Given the description of an element on the screen output the (x, y) to click on. 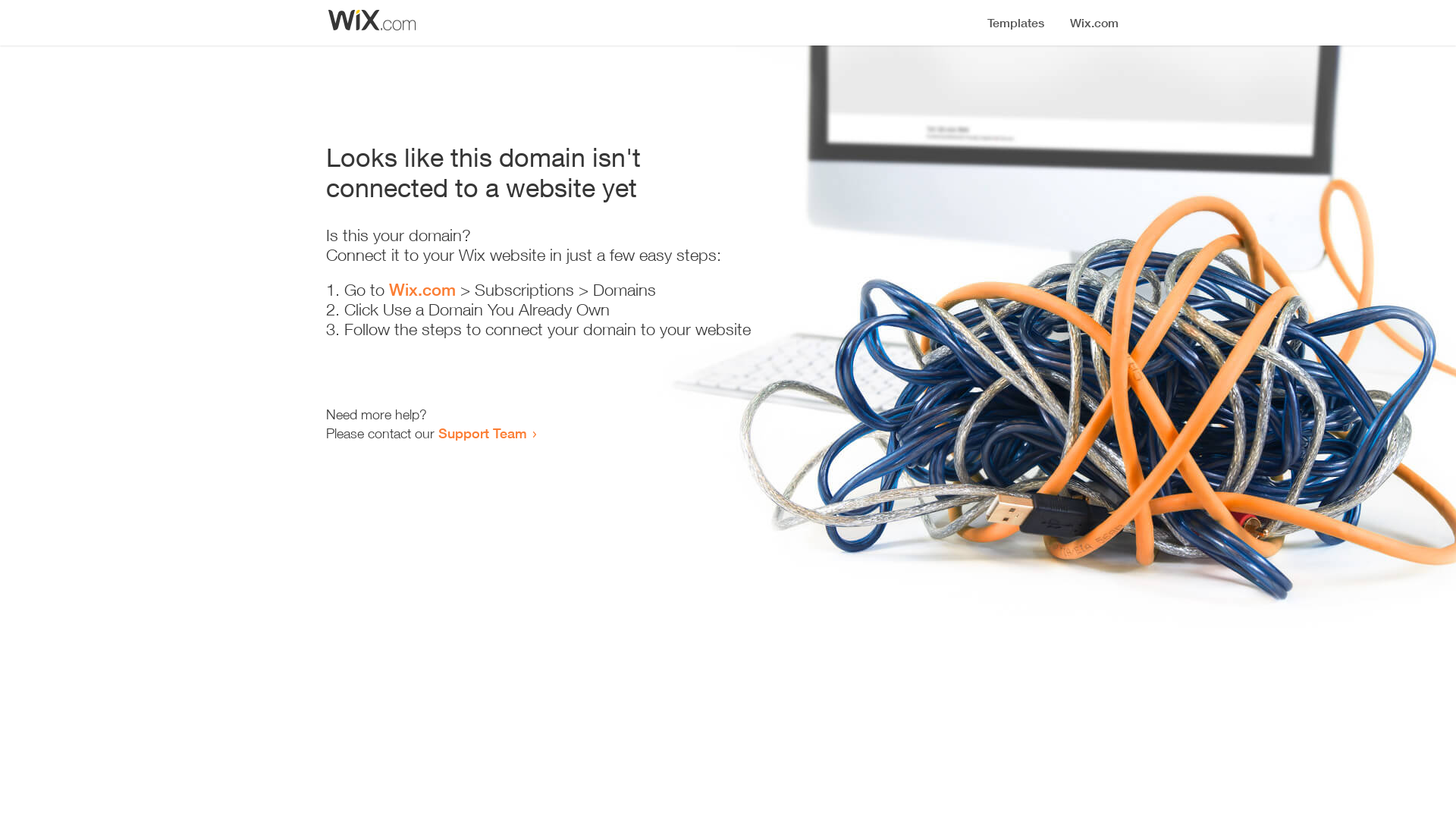
Wix.com Element type: text (422, 289)
Support Team Element type: text (482, 432)
